Given the description of an element on the screen output the (x, y) to click on. 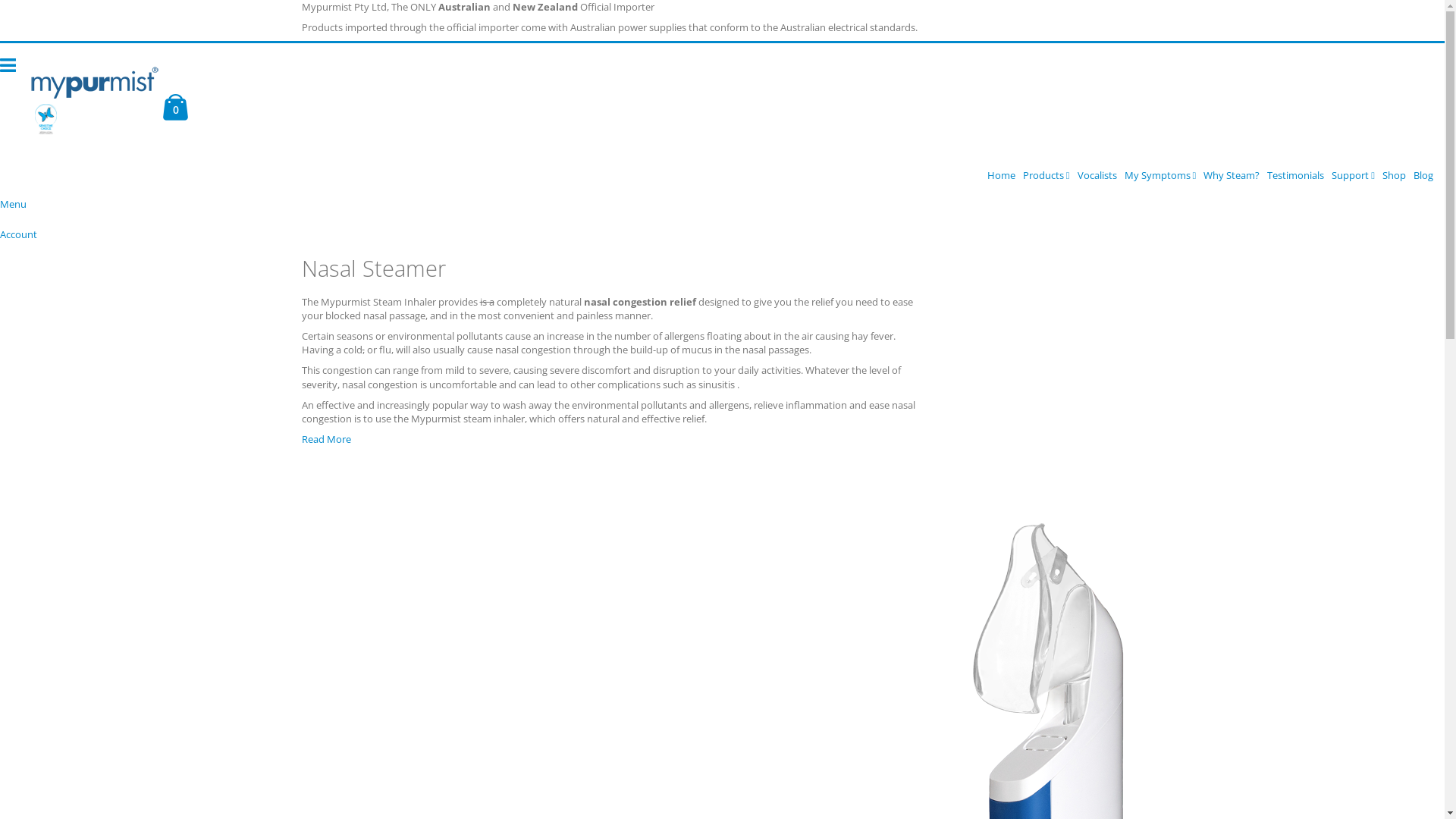
Support Element type: text (1352, 174)
Shop Element type: text (1393, 174)
Blog Element type: text (1423, 174)
Vocalists Element type: text (1096, 174)
Account Element type: text (18, 234)
Testimonials Element type: text (1295, 174)
Cart
0 Element type: text (175, 109)
Products Element type: text (1046, 174)
Home Element type: text (1001, 174)
Read More Element type: text (326, 438)
My Symptoms Element type: text (1160, 174)
Menu Element type: text (13, 203)
Why Steam? Element type: text (1231, 174)
